Given the description of an element on the screen output the (x, y) to click on. 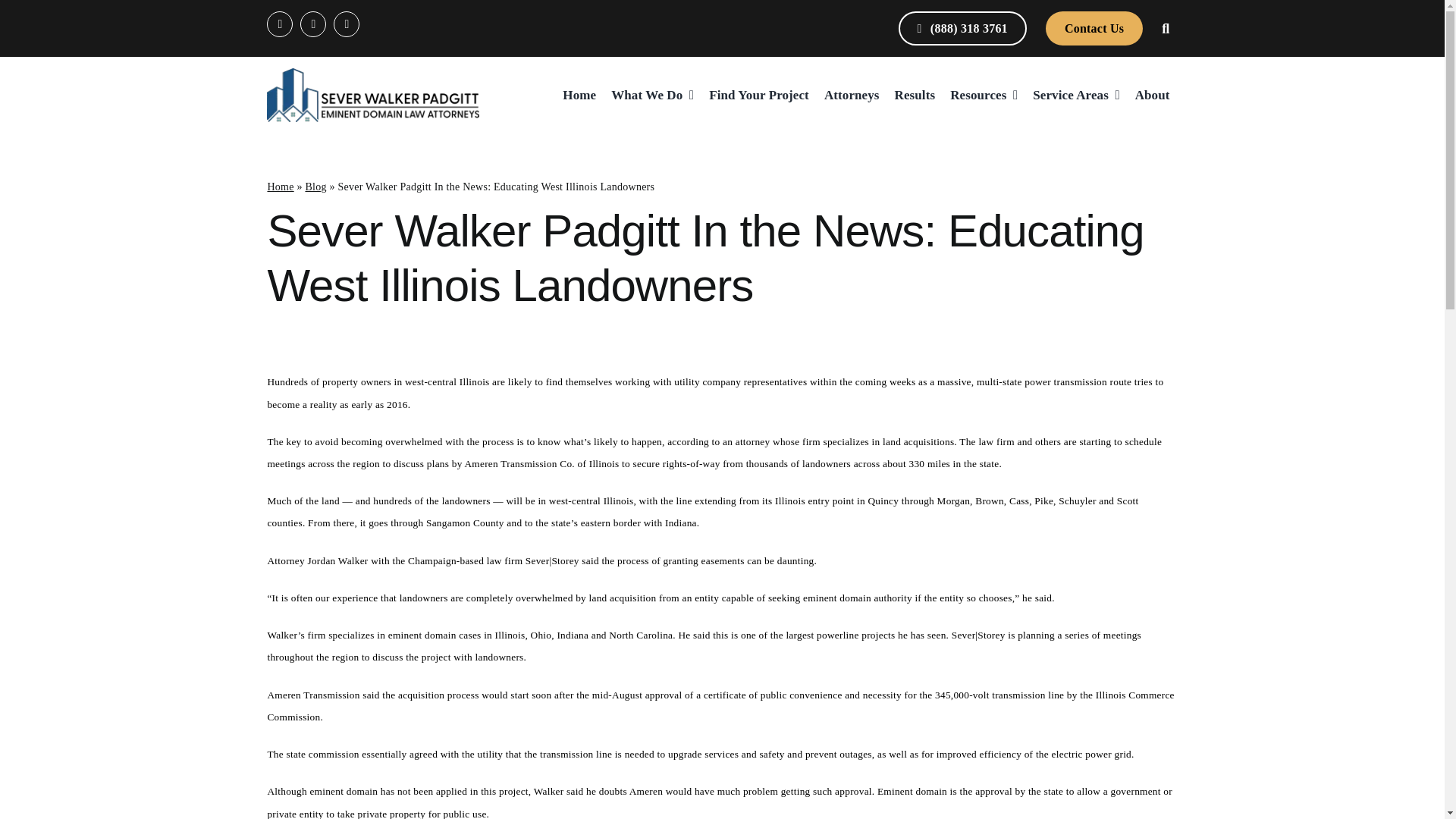
Attorneys (851, 95)
Resources (983, 95)
X (312, 23)
What We Do (652, 95)
Facebook (279, 23)
Find Your Project (759, 95)
LinkedIn (346, 23)
Contact Us (1093, 28)
